Given the description of an element on the screen output the (x, y) to click on. 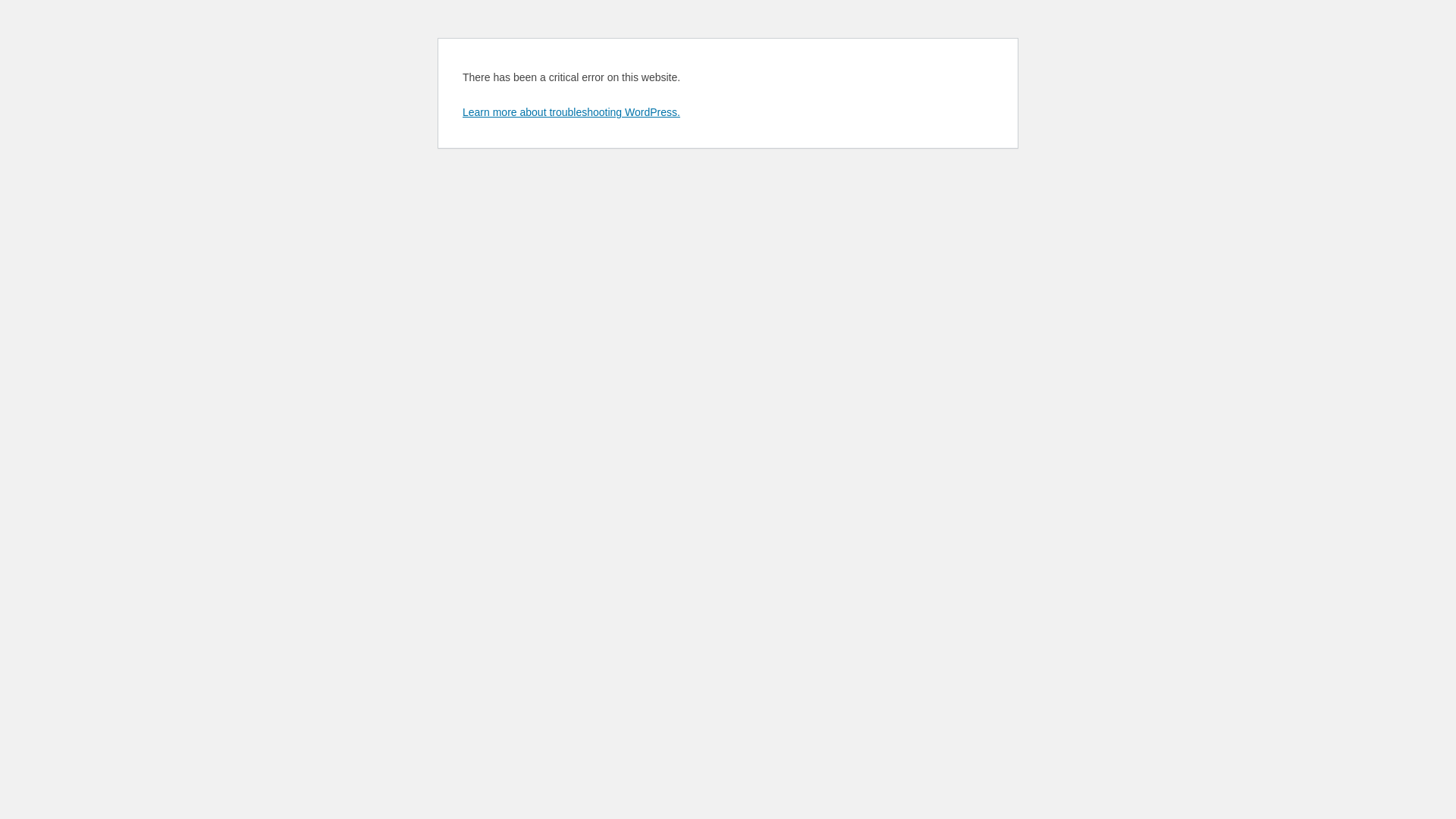
Learn more about troubleshooting WordPress. Element type: text (571, 112)
